Given the description of an element on the screen output the (x, y) to click on. 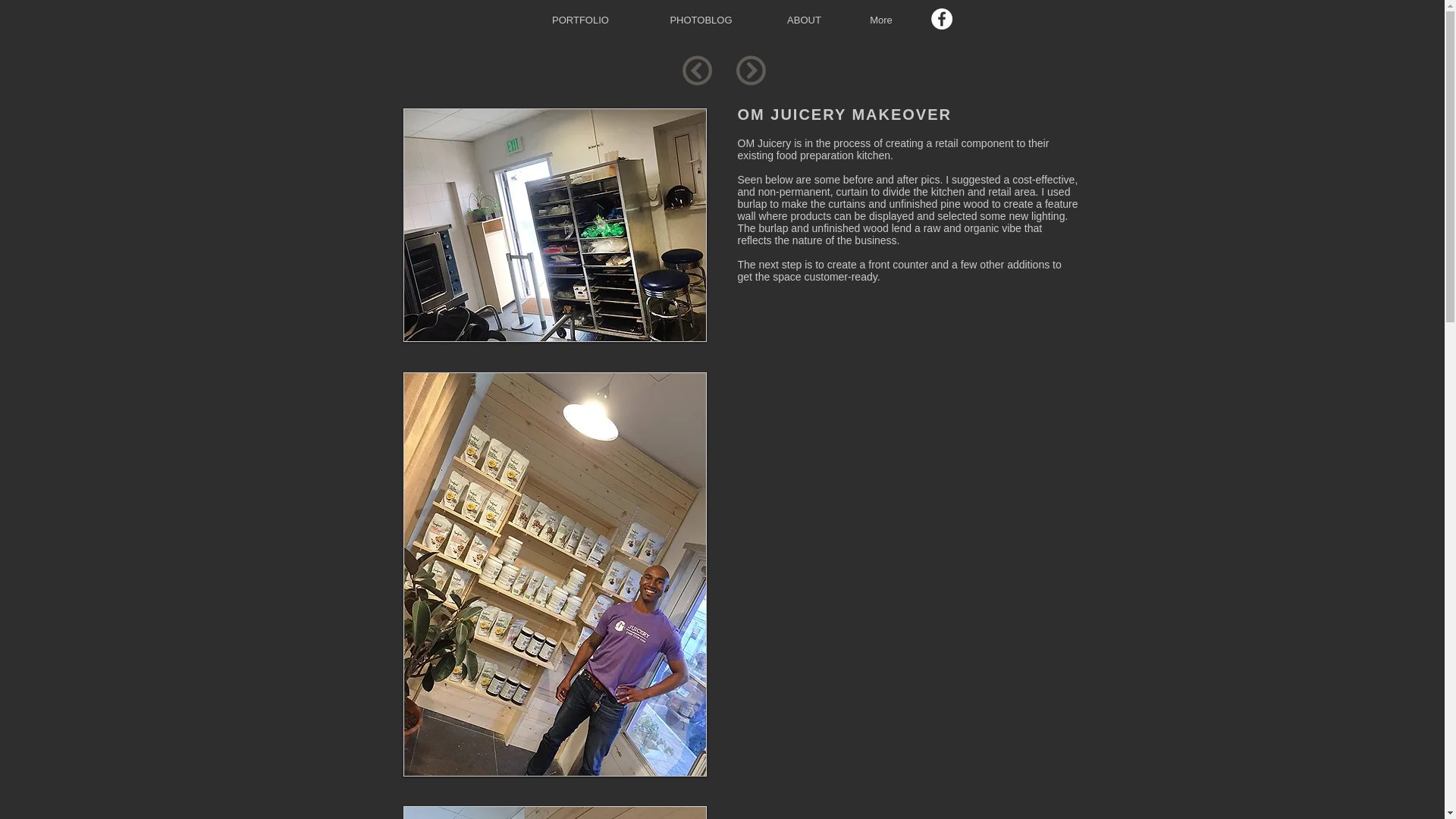
PORTFOLIO (580, 20)
PHOTOBLOG (700, 20)
ABOUT (803, 20)
